Given the description of an element on the screen output the (x, y) to click on. 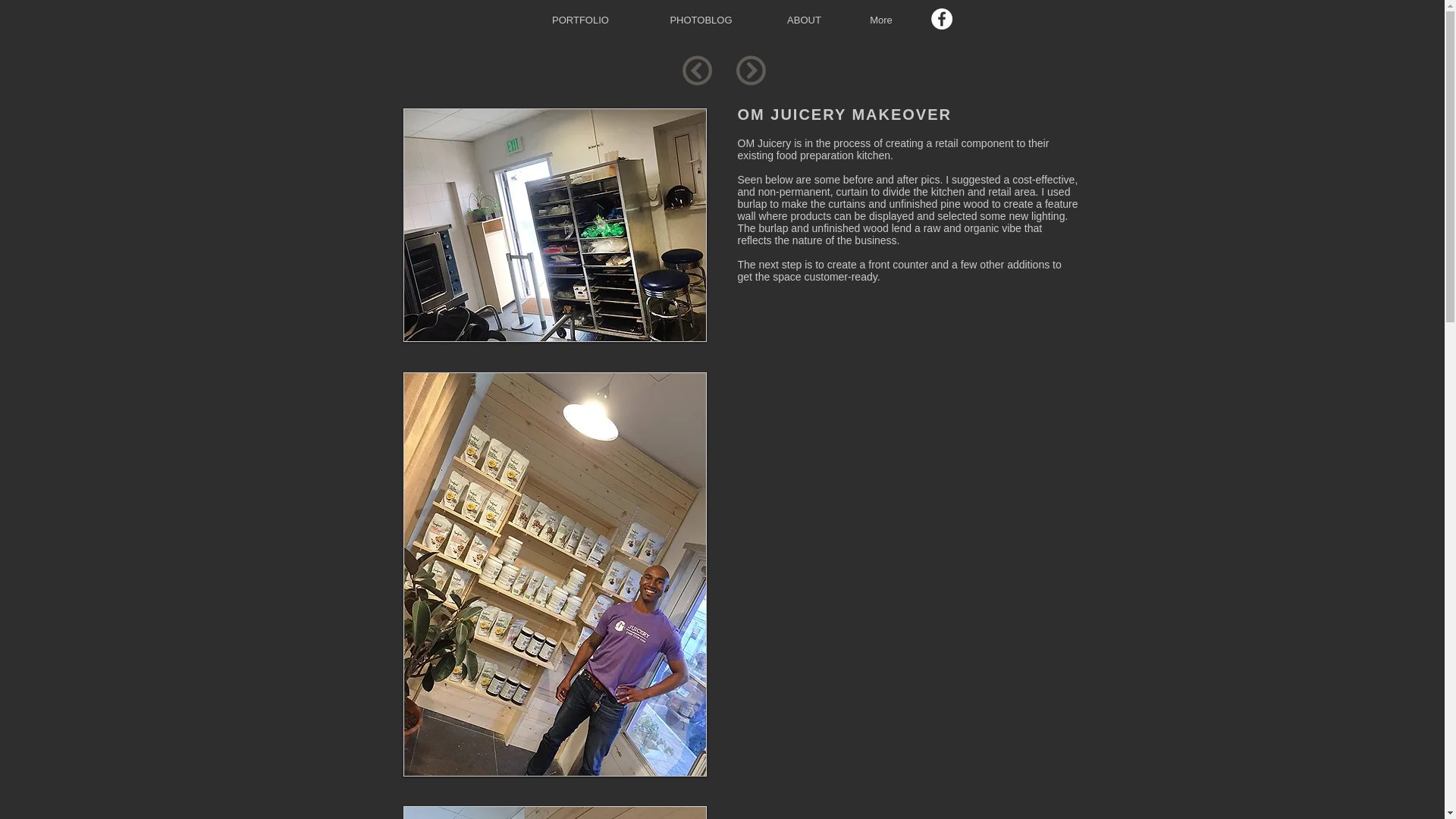
PORTFOLIO (580, 20)
PHOTOBLOG (700, 20)
ABOUT (803, 20)
